Given the description of an element on the screen output the (x, y) to click on. 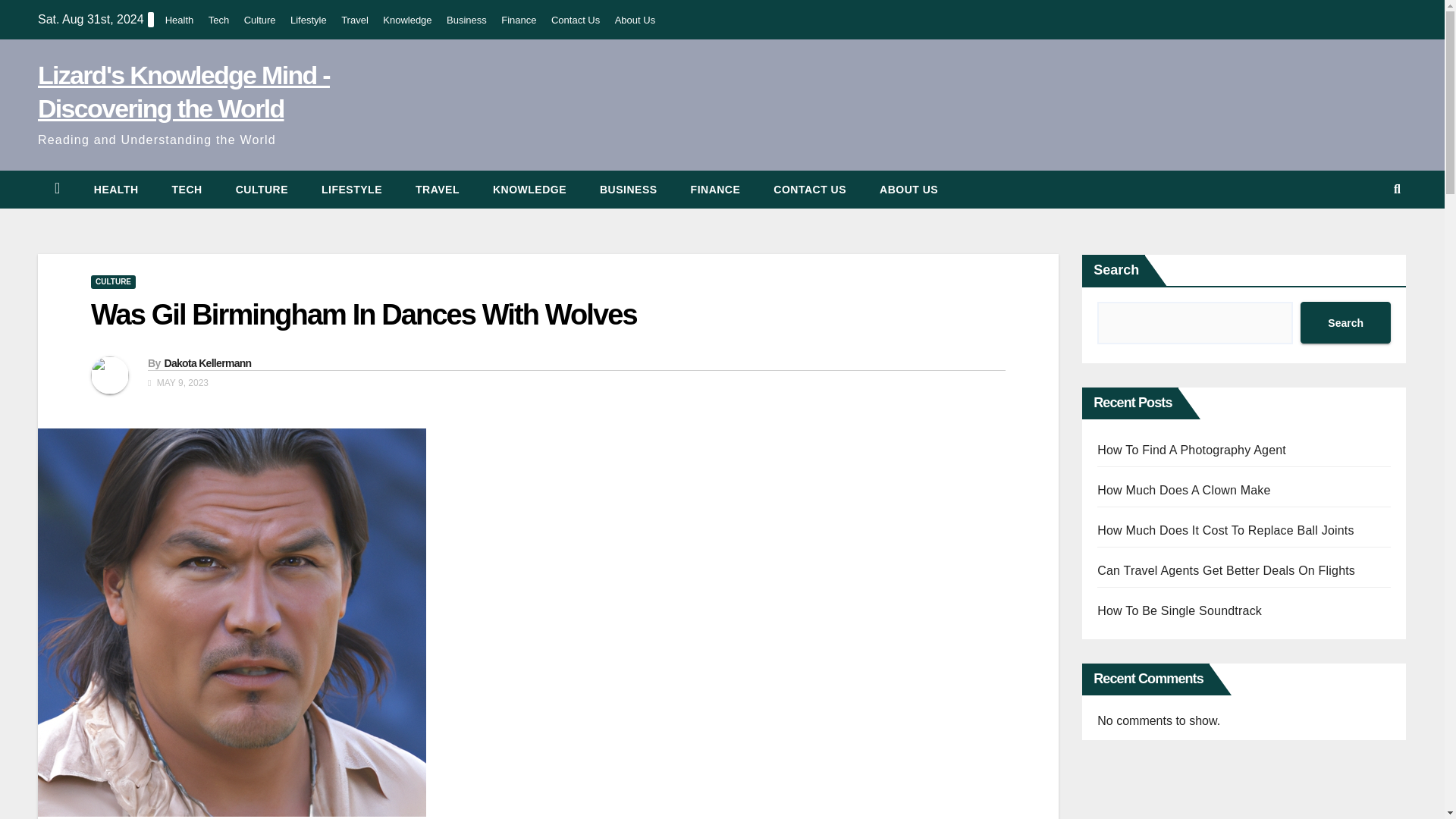
About Us (909, 189)
Culture (261, 189)
Was Gil Birmingham In Dances With Wolves (363, 314)
Travel (437, 189)
Finance (517, 19)
HEALTH (116, 189)
Culture (260, 19)
Knowledge (529, 189)
Permalink to: Was Gil Birmingham In Dances With Wolves (363, 314)
KNOWLEDGE (529, 189)
